Given the description of an element on the screen output the (x, y) to click on. 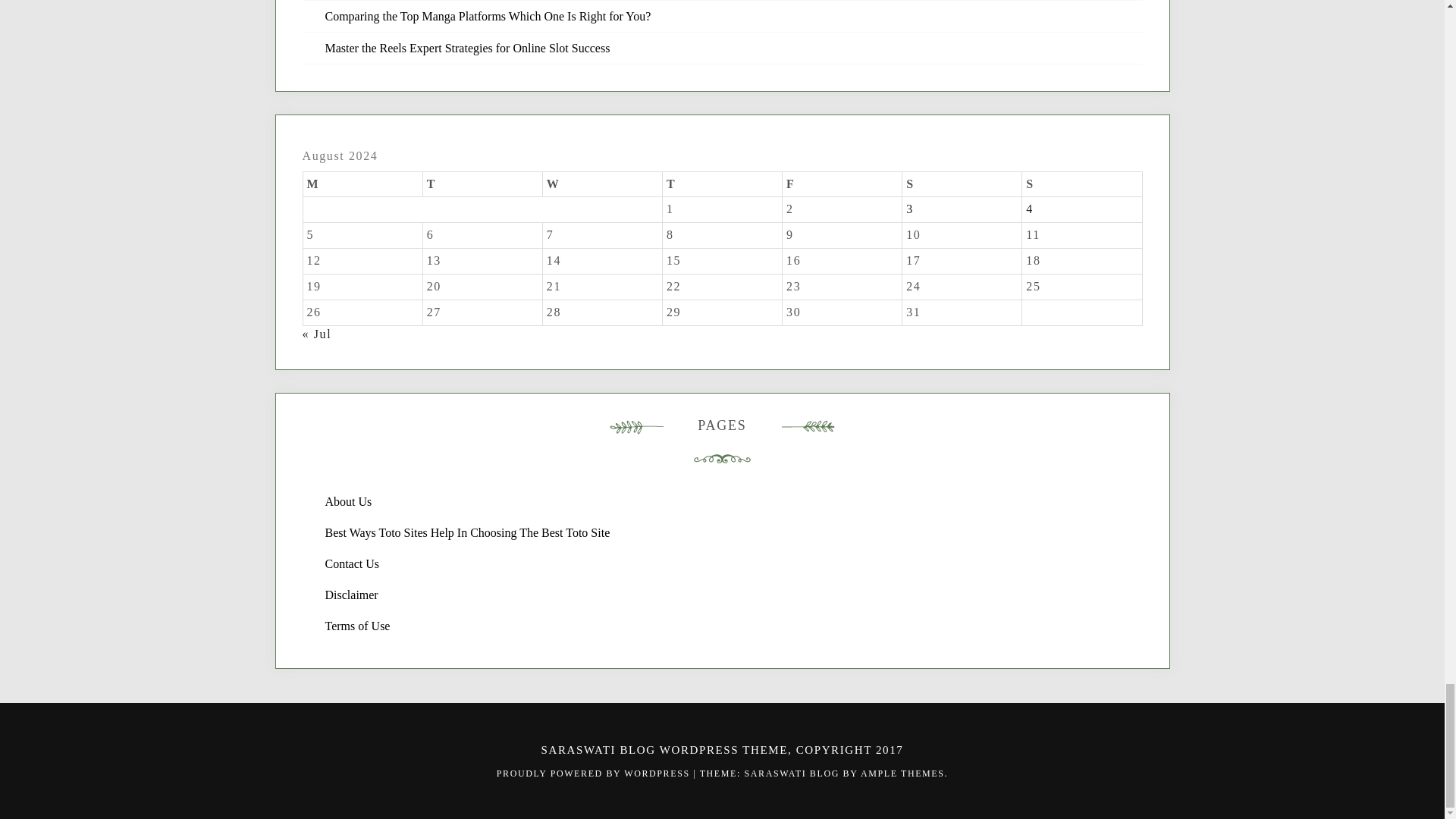
Friday (842, 184)
Sunday (1081, 184)
Saturday (962, 184)
Wednesday (601, 184)
Tuesday (481, 184)
Thursday (721, 184)
Monday (362, 184)
